Given the description of an element on the screen output the (x, y) to click on. 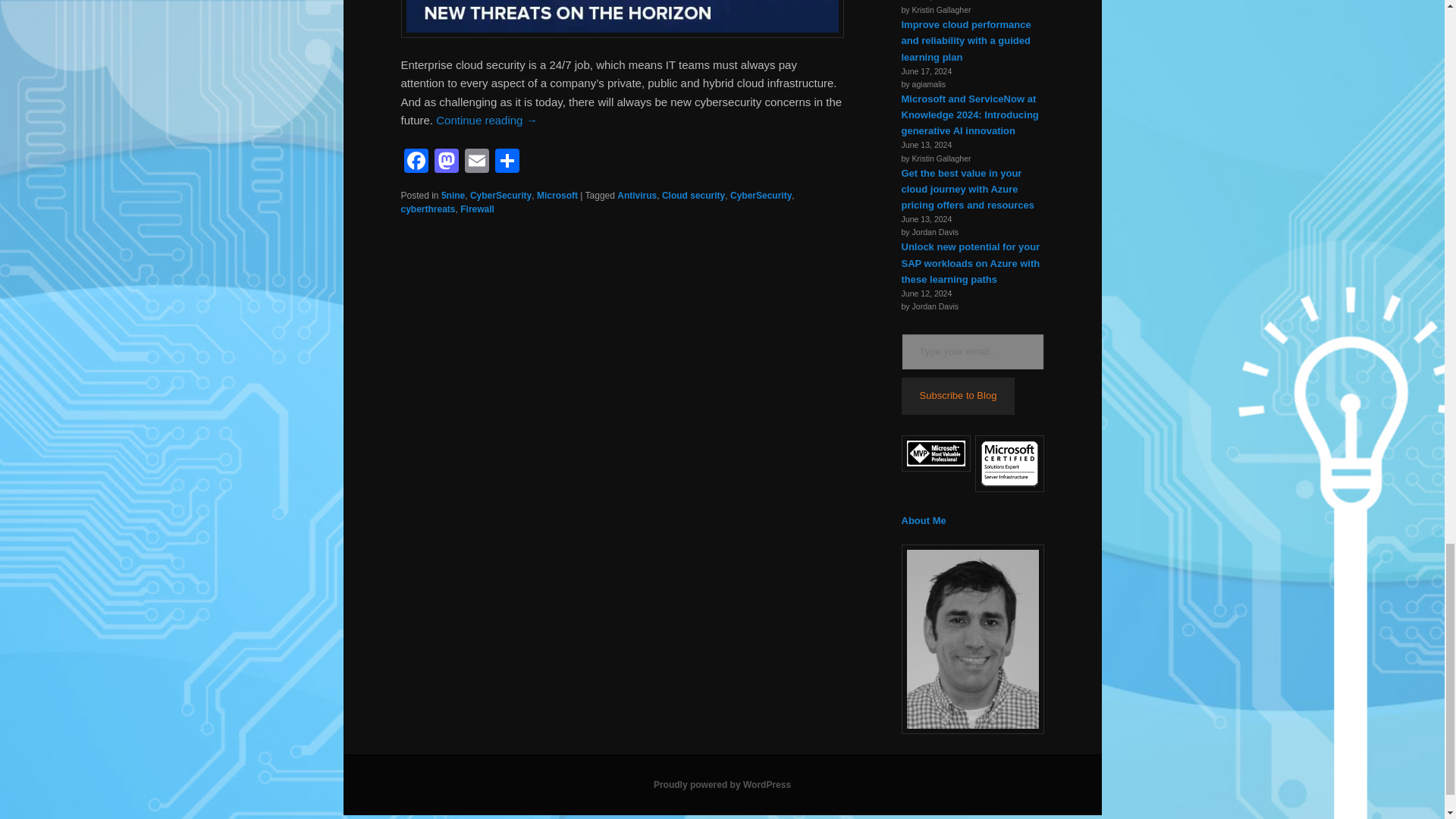
Email (476, 162)
Facebook (415, 162)
Mastodon (445, 162)
